Given the description of an element on the screen output the (x, y) to click on. 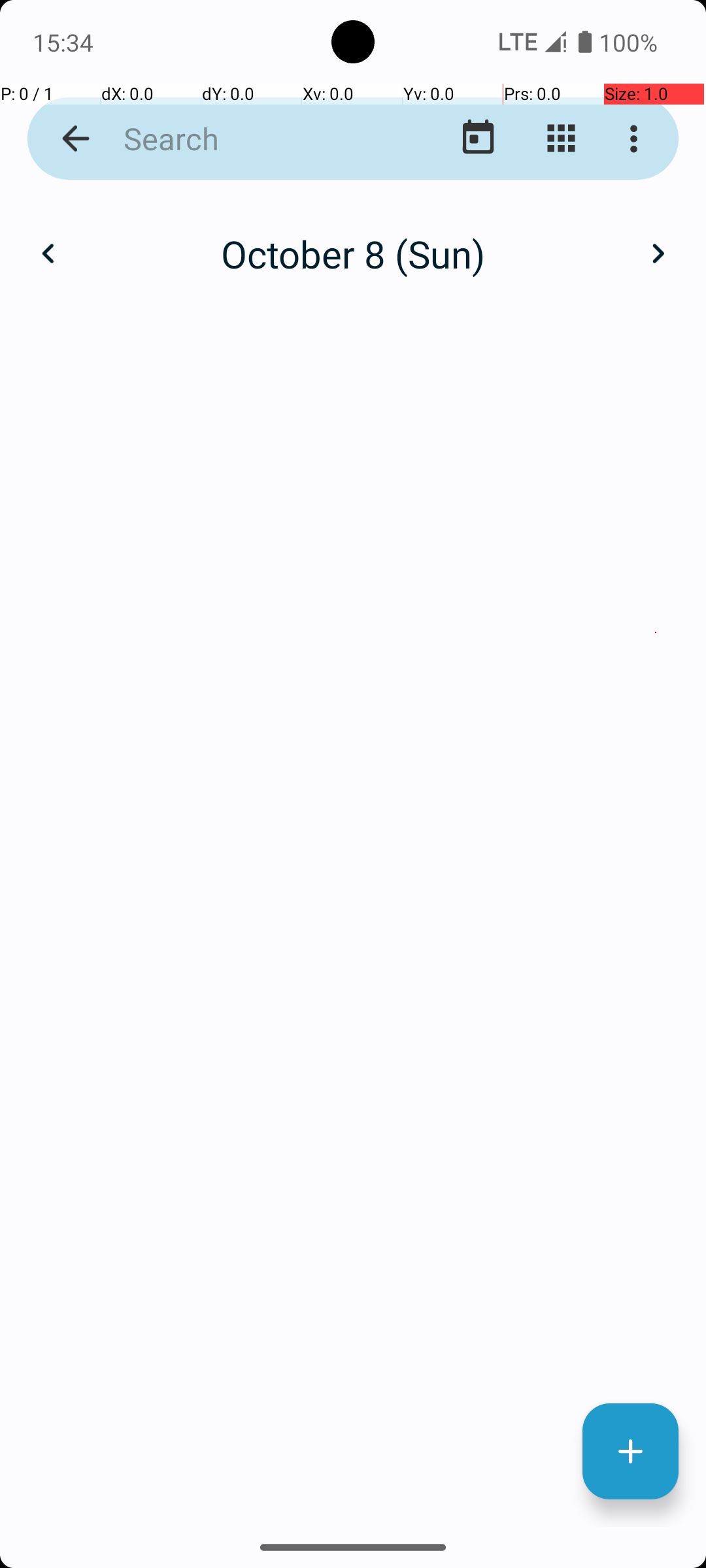
October 8 (Sun) Element type: android.widget.TextView (352, 253)
